Given the description of an element on the screen output the (x, y) to click on. 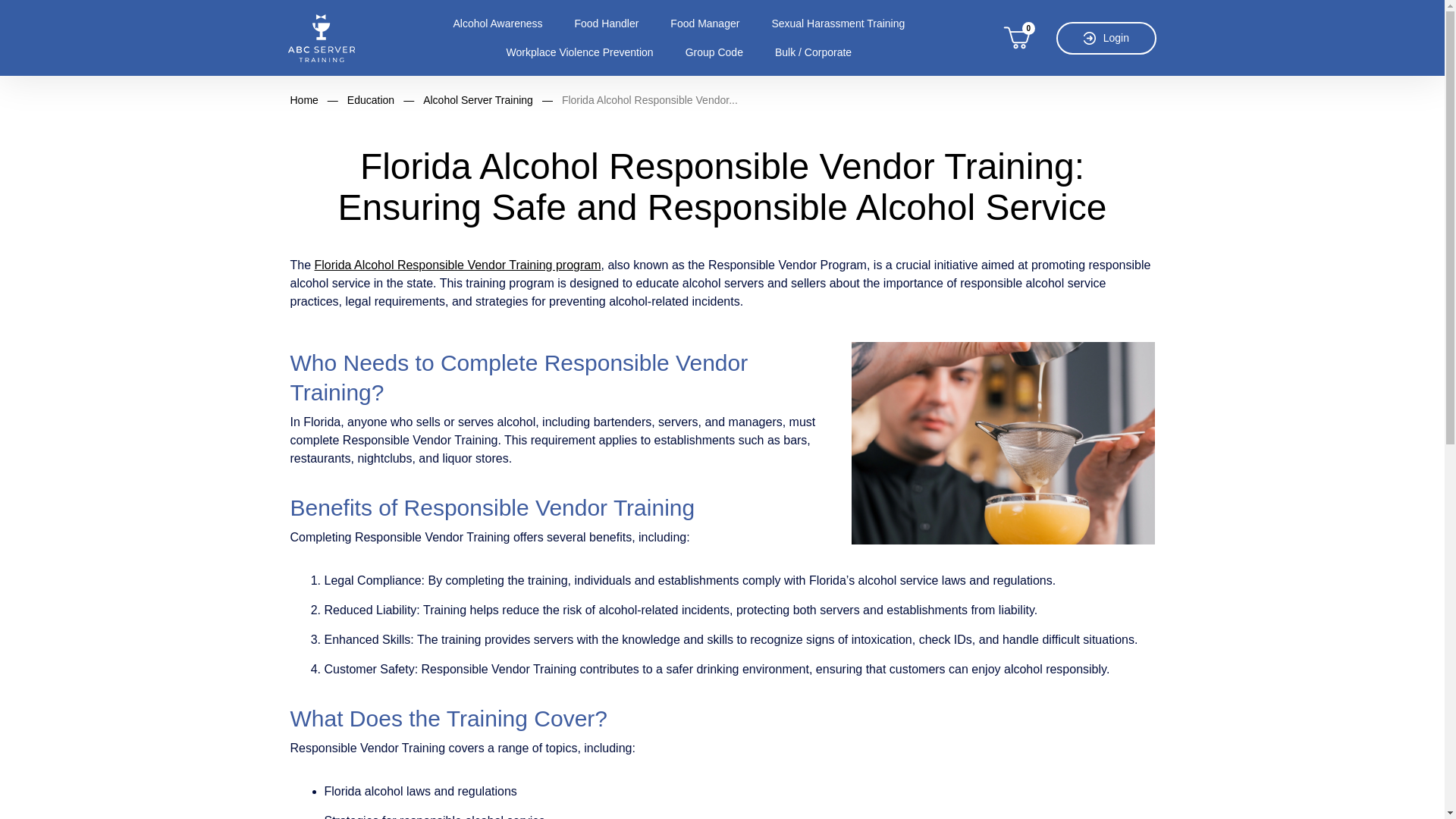
Login (1106, 37)
Education (370, 100)
Group Code (713, 52)
Workplace Violence Prevention (580, 52)
Alcohol Server Training (477, 100)
Food Handler (606, 23)
Education (370, 100)
Alcohol Server Training (477, 100)
Sexual Harassment Training (837, 23)
Alcohol Awareness (497, 23)
Food Manager (704, 23)
Home (303, 100)
Florida Alcohol Responsible Vendor Training program (457, 264)
